Given the description of an element on the screen output the (x, y) to click on. 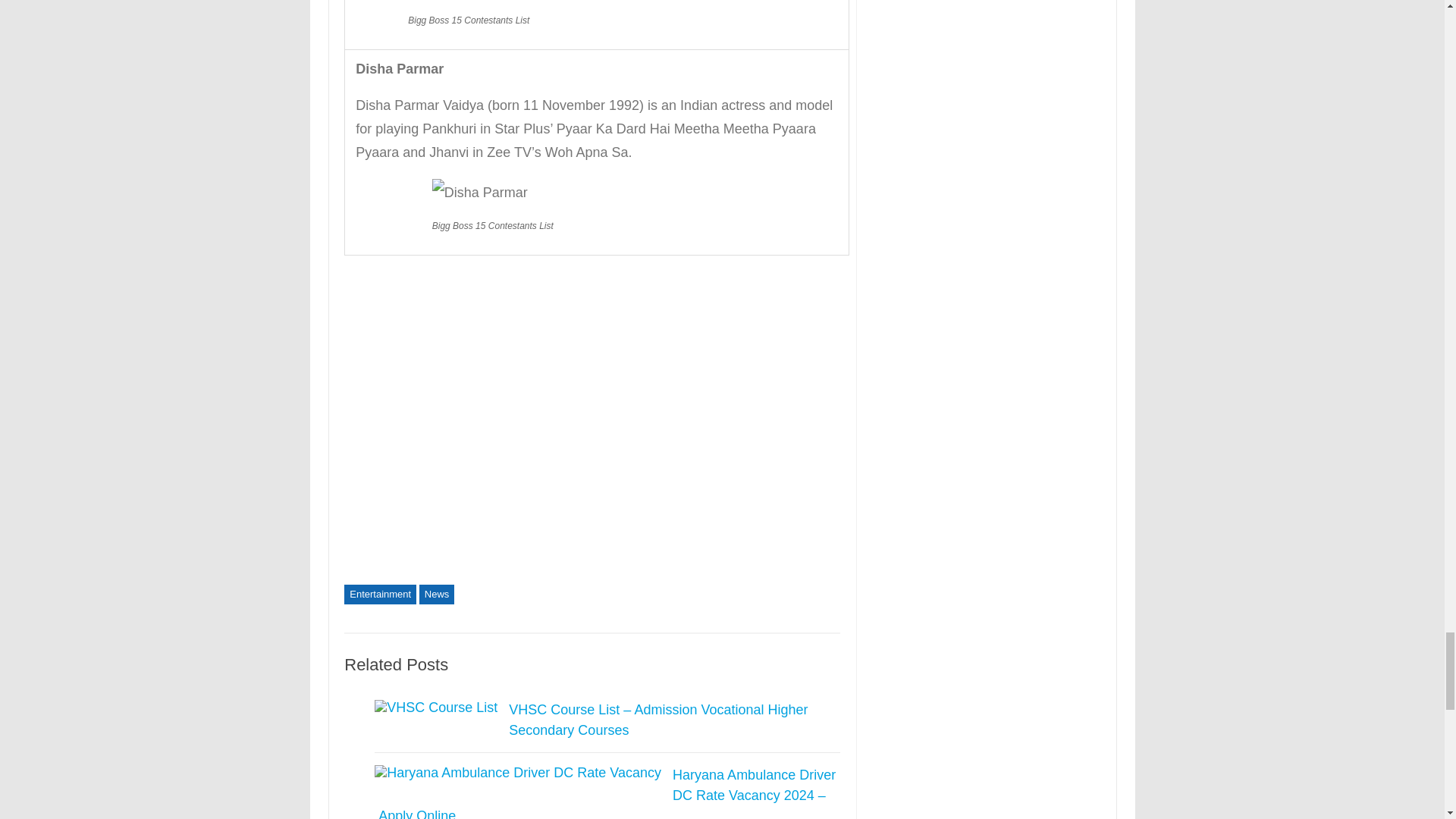
Entertainment (379, 594)
News (436, 594)
